Given the description of an element on the screen output the (x, y) to click on. 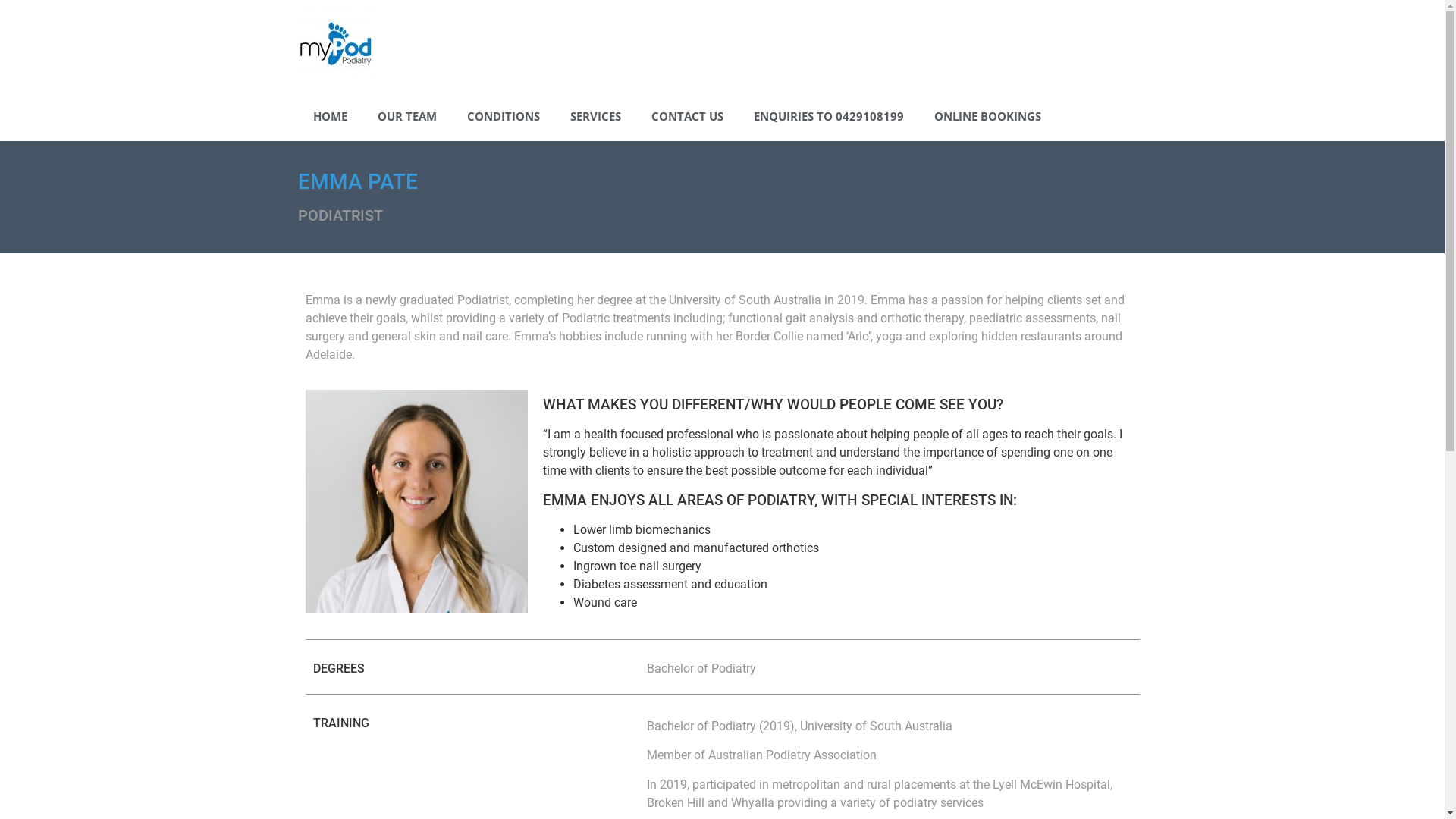
ONLINE BOOKINGS Element type: text (987, 115)
ENQUIRIES TO 0429108199 Element type: text (828, 115)
HOME Element type: text (329, 115)
SERVICES Element type: text (595, 115)
CONDITIONS Element type: text (503, 115)
OUR TEAM Element type: text (406, 115)
mypodpodiatry-logo Element type: hover (335, 45)
CONTACT US Element type: text (686, 115)
